Given the description of an element on the screen output the (x, y) to click on. 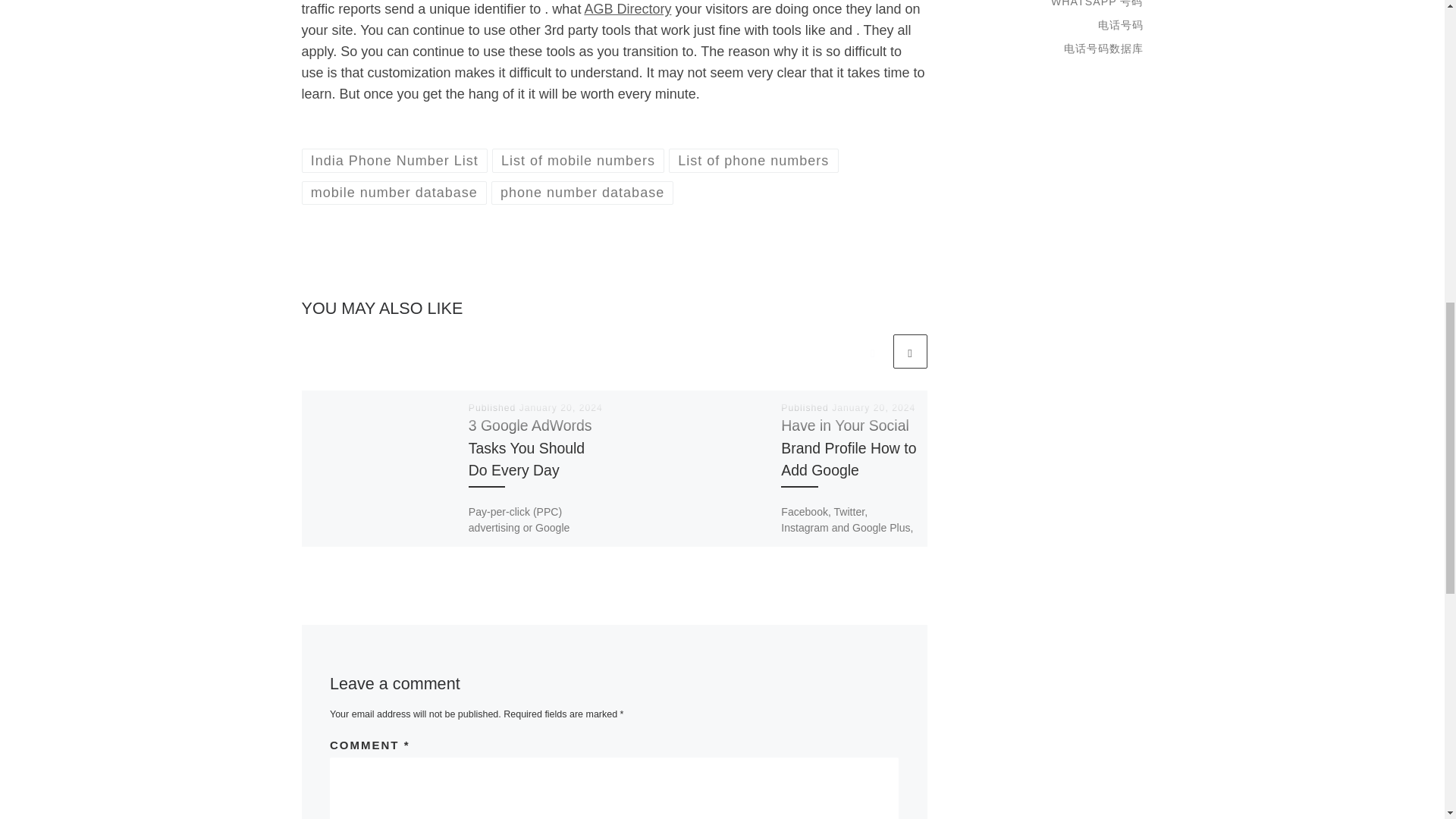
Next related articles (910, 351)
India Phone Number List (394, 159)
Previous related articles (872, 351)
View all posts in India Phone Number List (394, 159)
mobile number database (394, 192)
View all posts in phone number database (583, 192)
List of phone numbers (753, 159)
3 Google AdWords Tasks You Should Do Every Day (530, 446)
View all posts in mobile number database (394, 192)
January 20, 2024 (560, 407)
List of mobile numbers (578, 159)
Have in Your Social Brand Profile How to Add Google (847, 446)
View all posts in List of phone numbers (753, 159)
AGB Directory (627, 8)
